Given the description of an element on the screen output the (x, y) to click on. 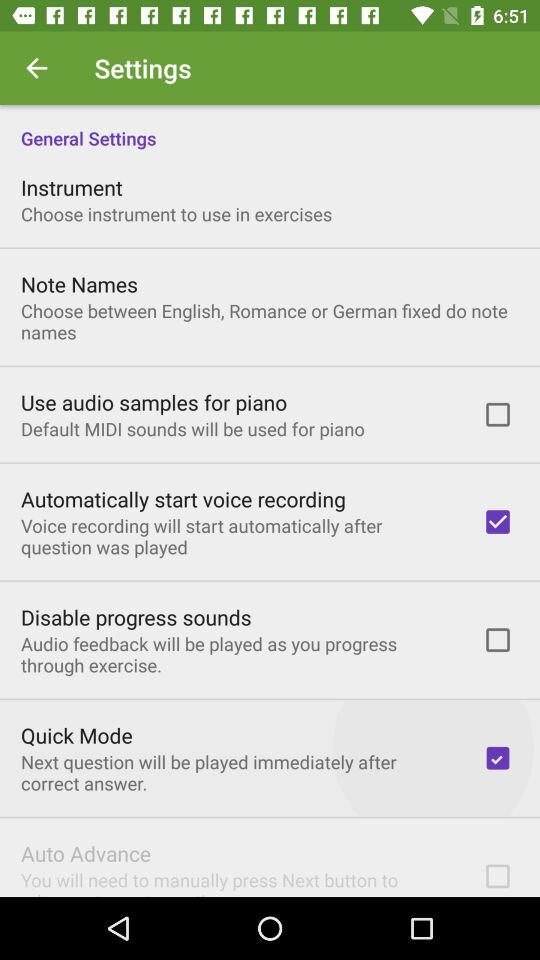
select the item below next question will icon (86, 853)
